Given the description of an element on the screen output the (x, y) to click on. 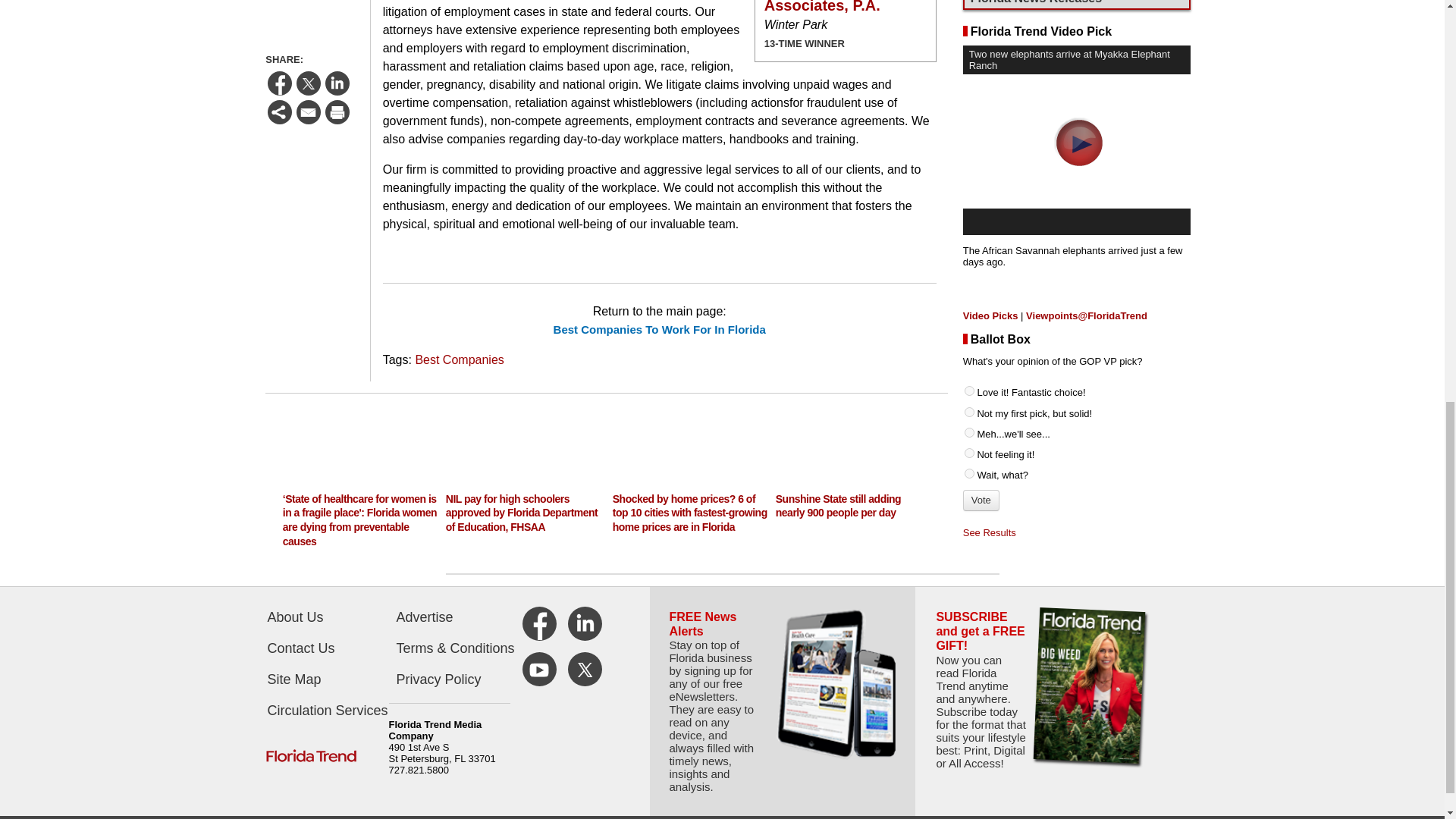
4068 (968, 325)
4067 (968, 304)
4069 (968, 345)
4066 (968, 283)
4070 (968, 366)
